Given the description of an element on the screen output the (x, y) to click on. 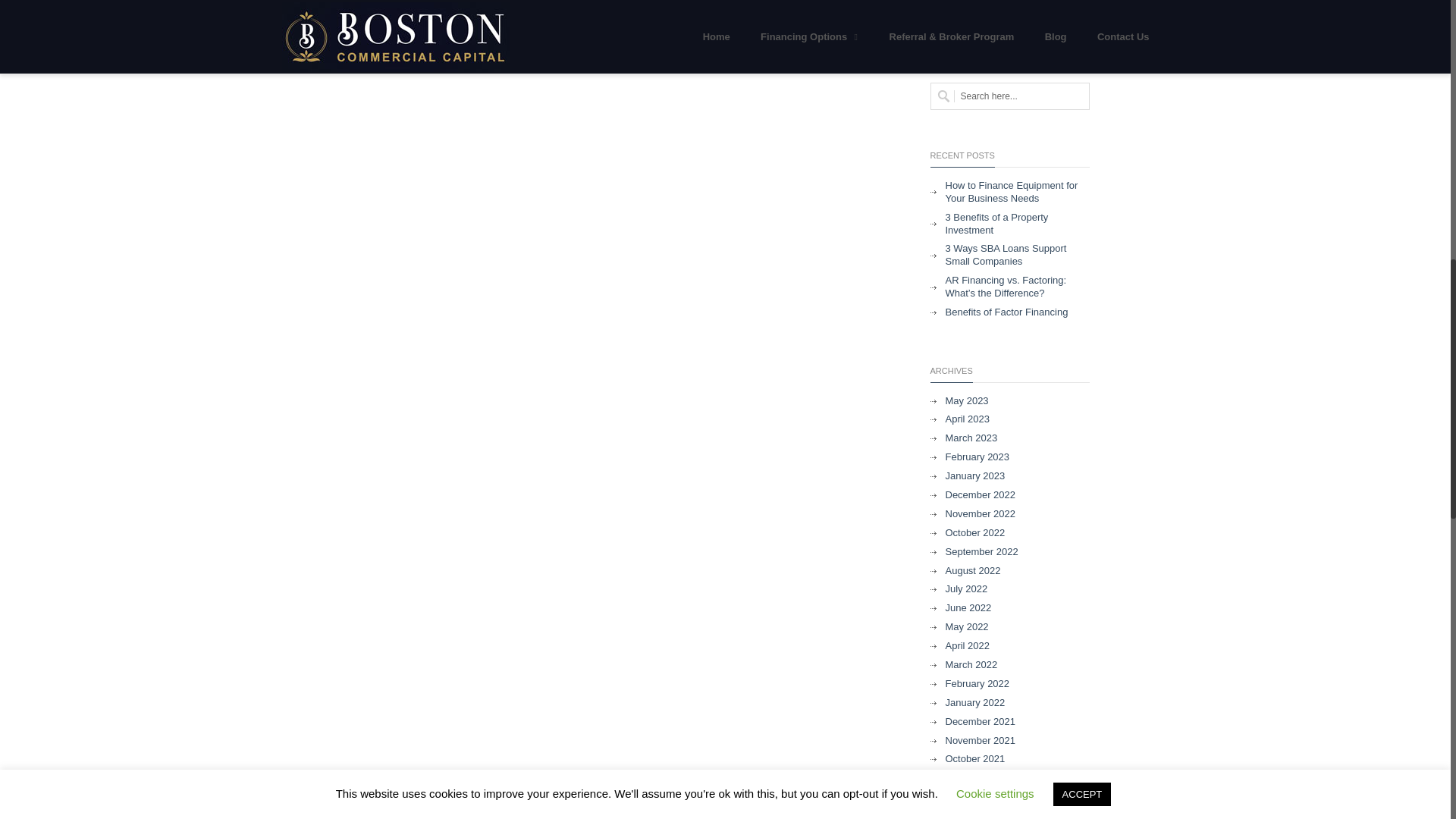
Search here... (1009, 95)
